Given the description of an element on the screen output the (x, y) to click on. 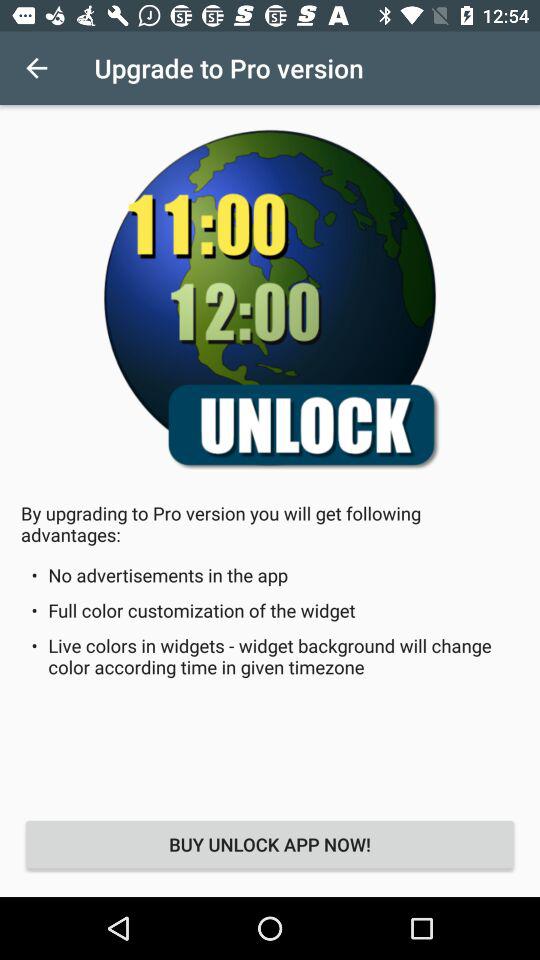
tap icon to the left of the upgrade to pro icon (36, 68)
